Given the description of an element on the screen output the (x, y) to click on. 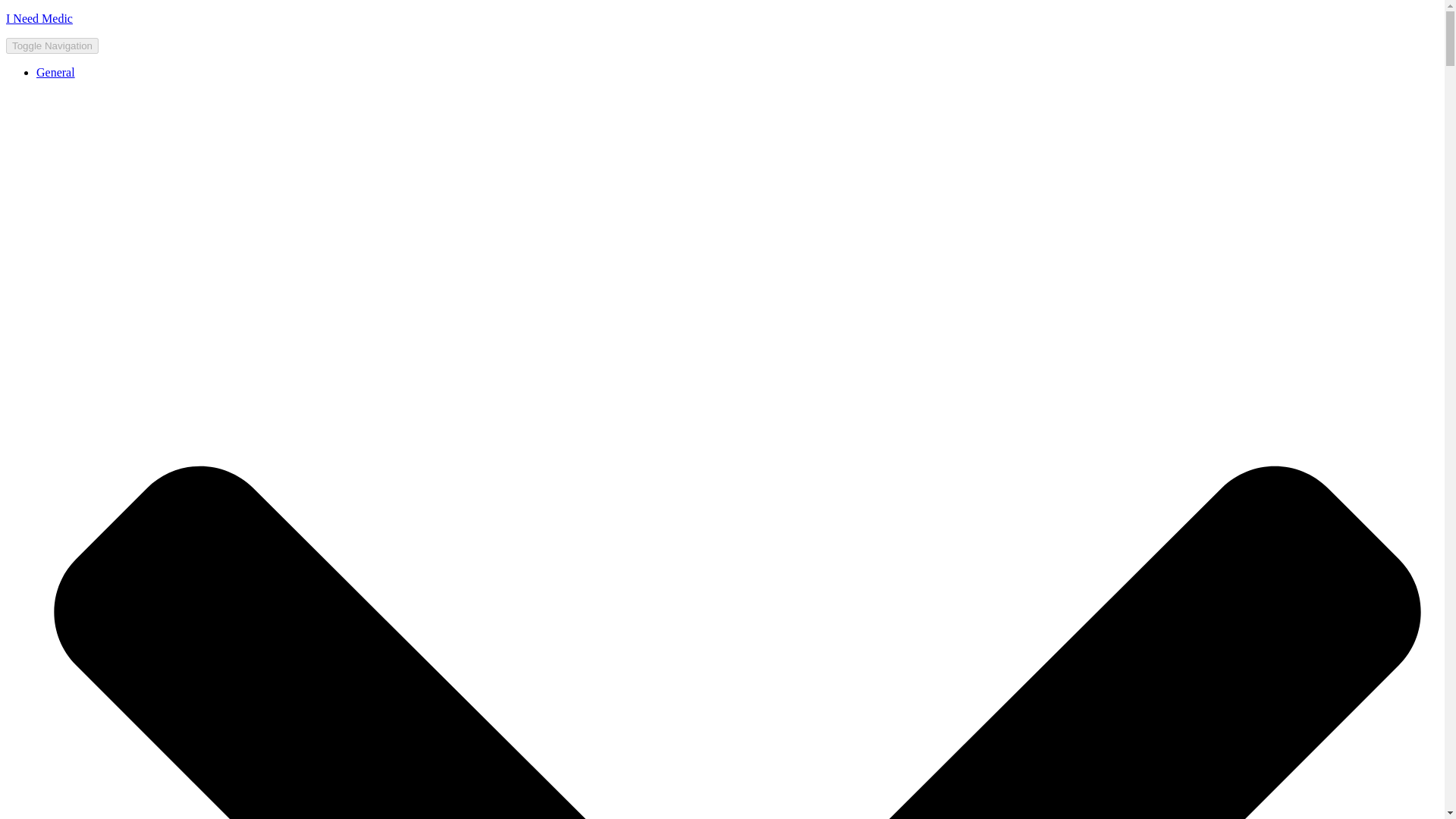
Toggle Navigation (52, 45)
